Given the description of an element on the screen output the (x, y) to click on. 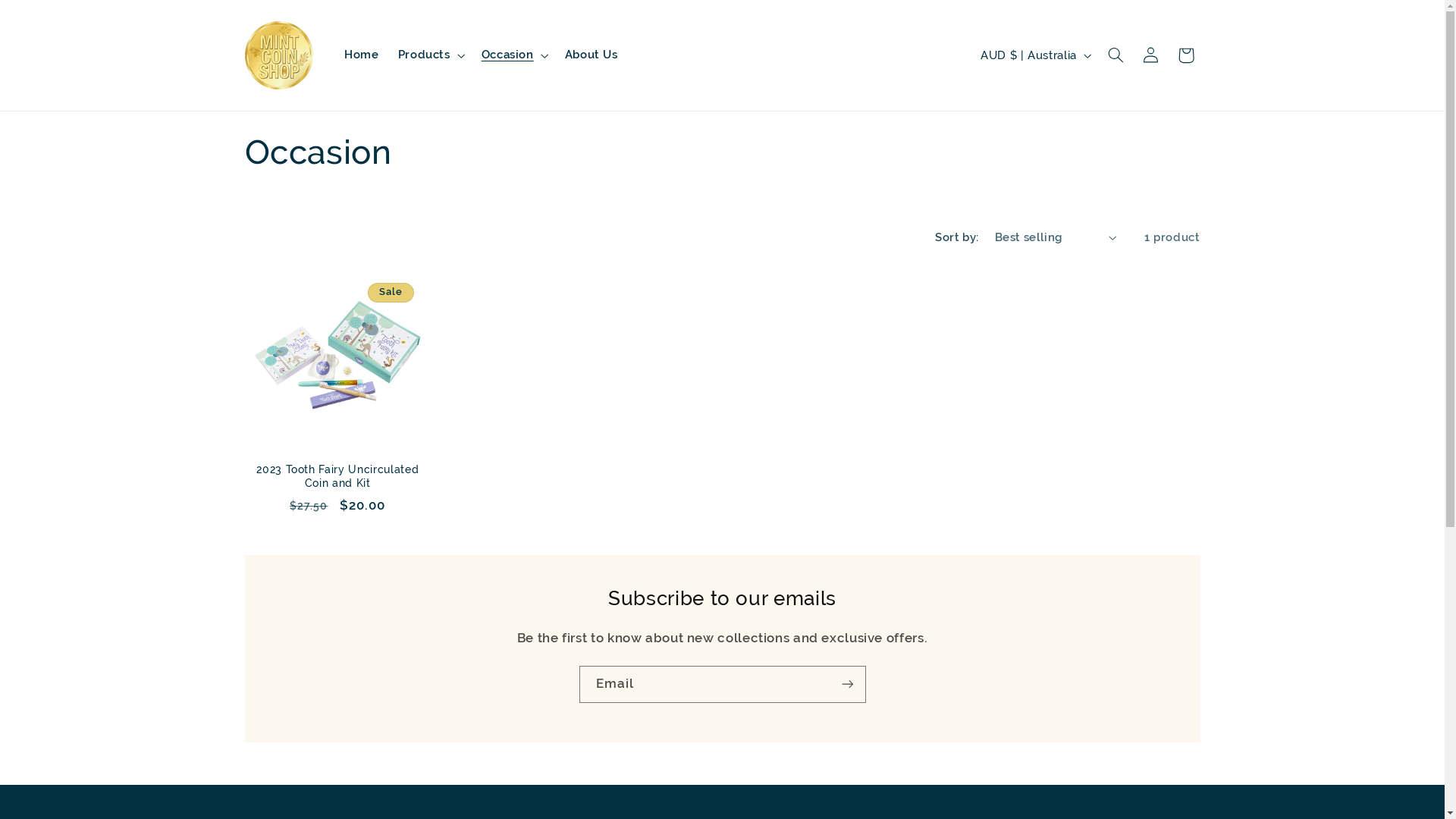
Cart Element type: text (1185, 54)
About Us Element type: text (591, 55)
2023 Tooth Fairy Uncirculated Coin and Kit Element type: text (337, 476)
Home Element type: text (361, 55)
Log in Element type: text (1149, 54)
AUD $ | Australia Element type: text (1034, 55)
